Given the description of an element on the screen output the (x, y) to click on. 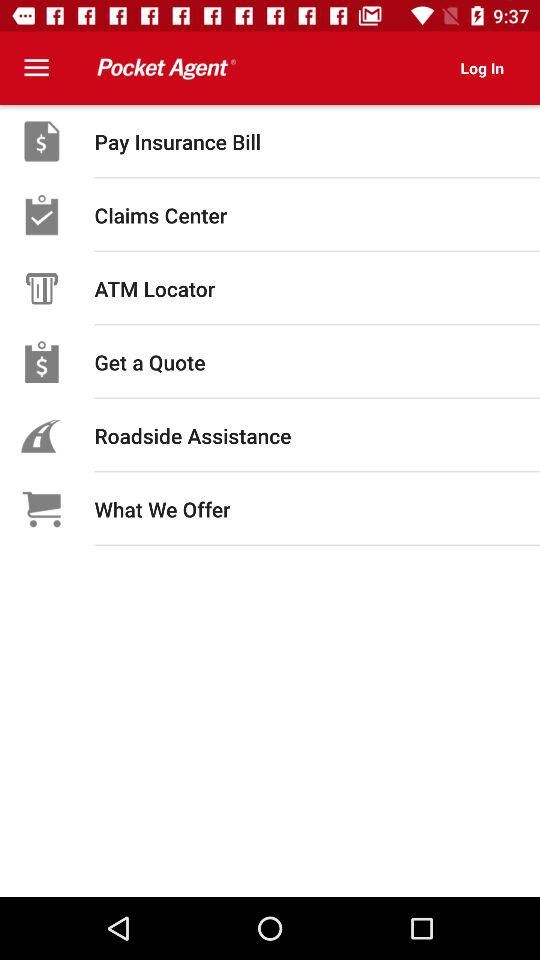
click icon at the top right corner (482, 68)
